Given the description of an element on the screen output the (x, y) to click on. 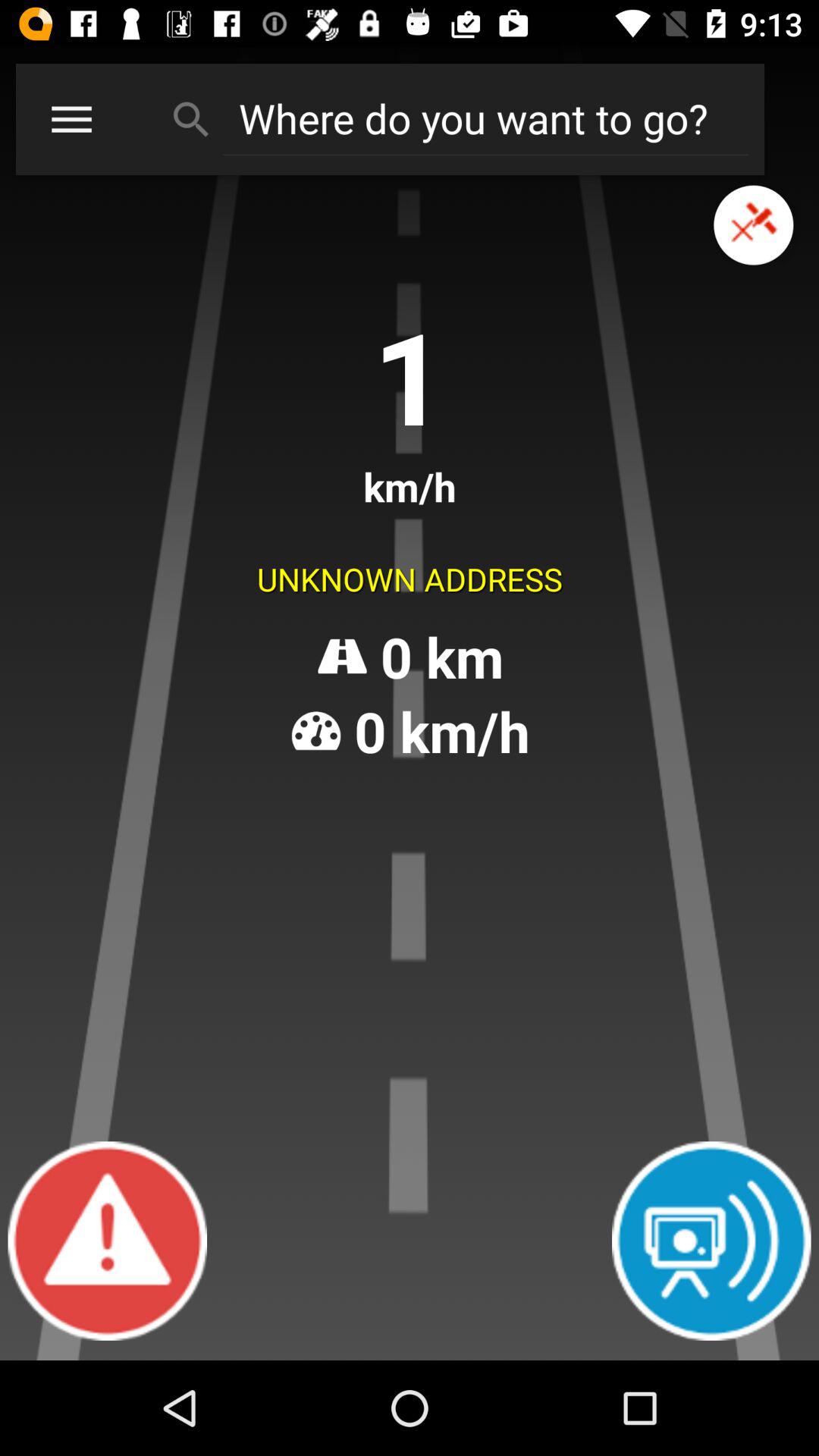
tap icon at the top right corner (753, 225)
